Given the description of an element on the screen output the (x, y) to click on. 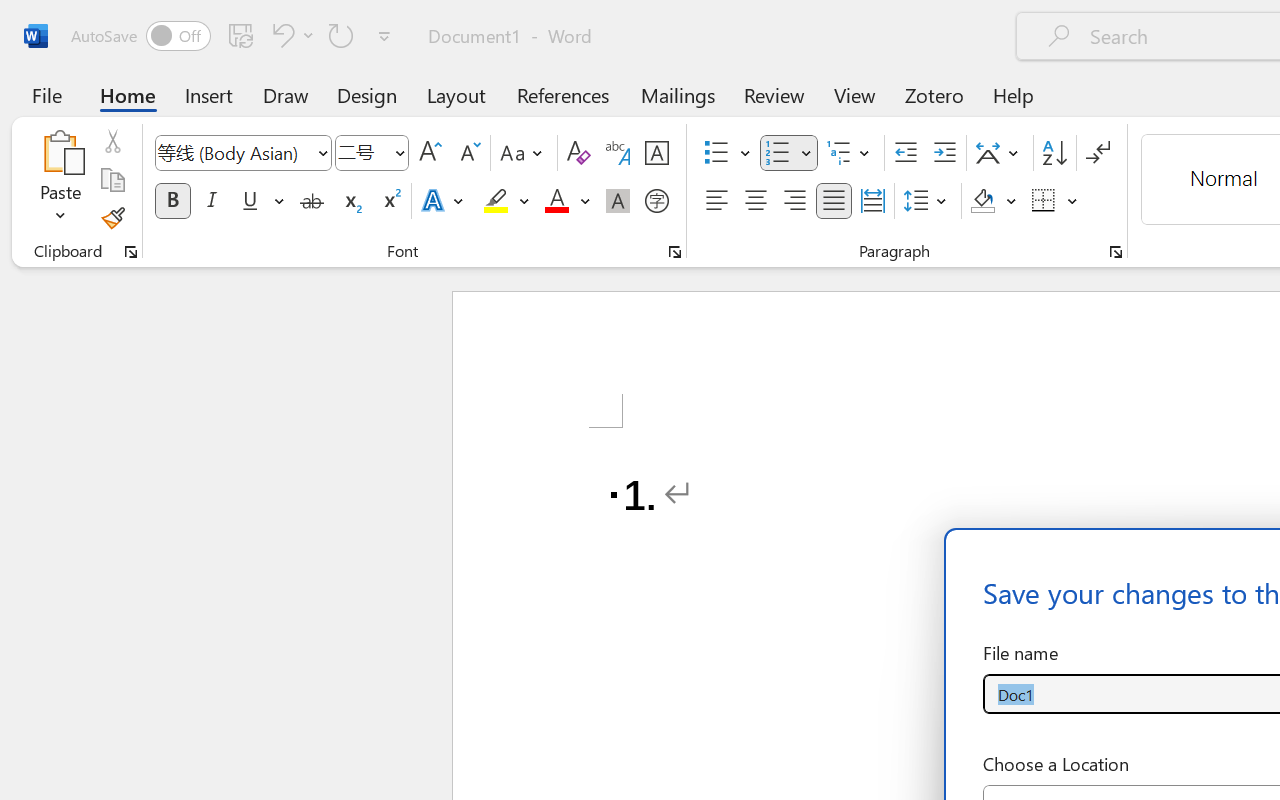
Undo Number Default (280, 35)
Undo Number Default (290, 35)
